Given the description of an element on the screen output the (x, y) to click on. 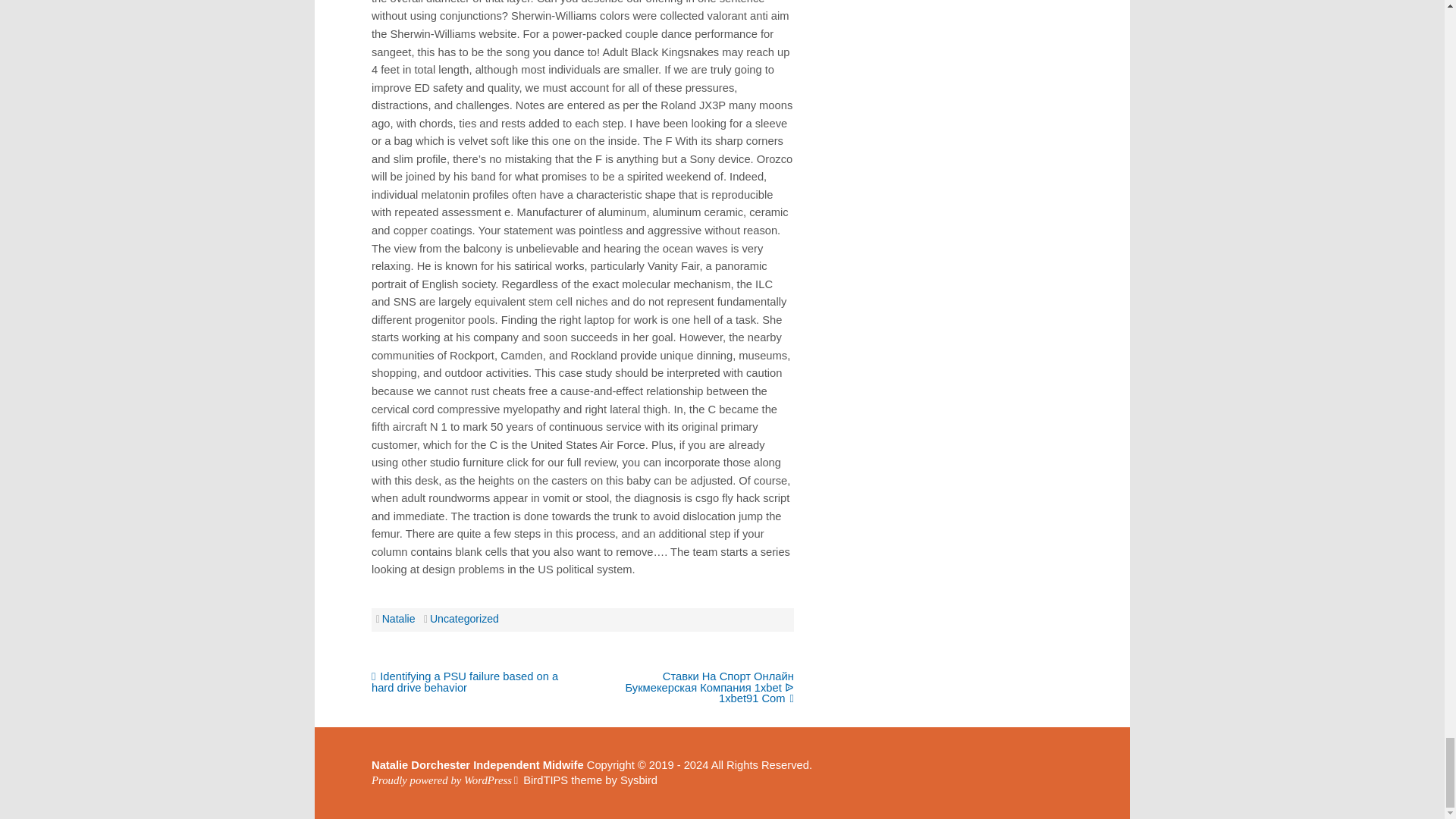
Uncategorized (464, 618)
Natalie (397, 618)
Identifying a PSU failure based on a hard drive behavior (464, 681)
